Given the description of an element on the screen output the (x, y) to click on. 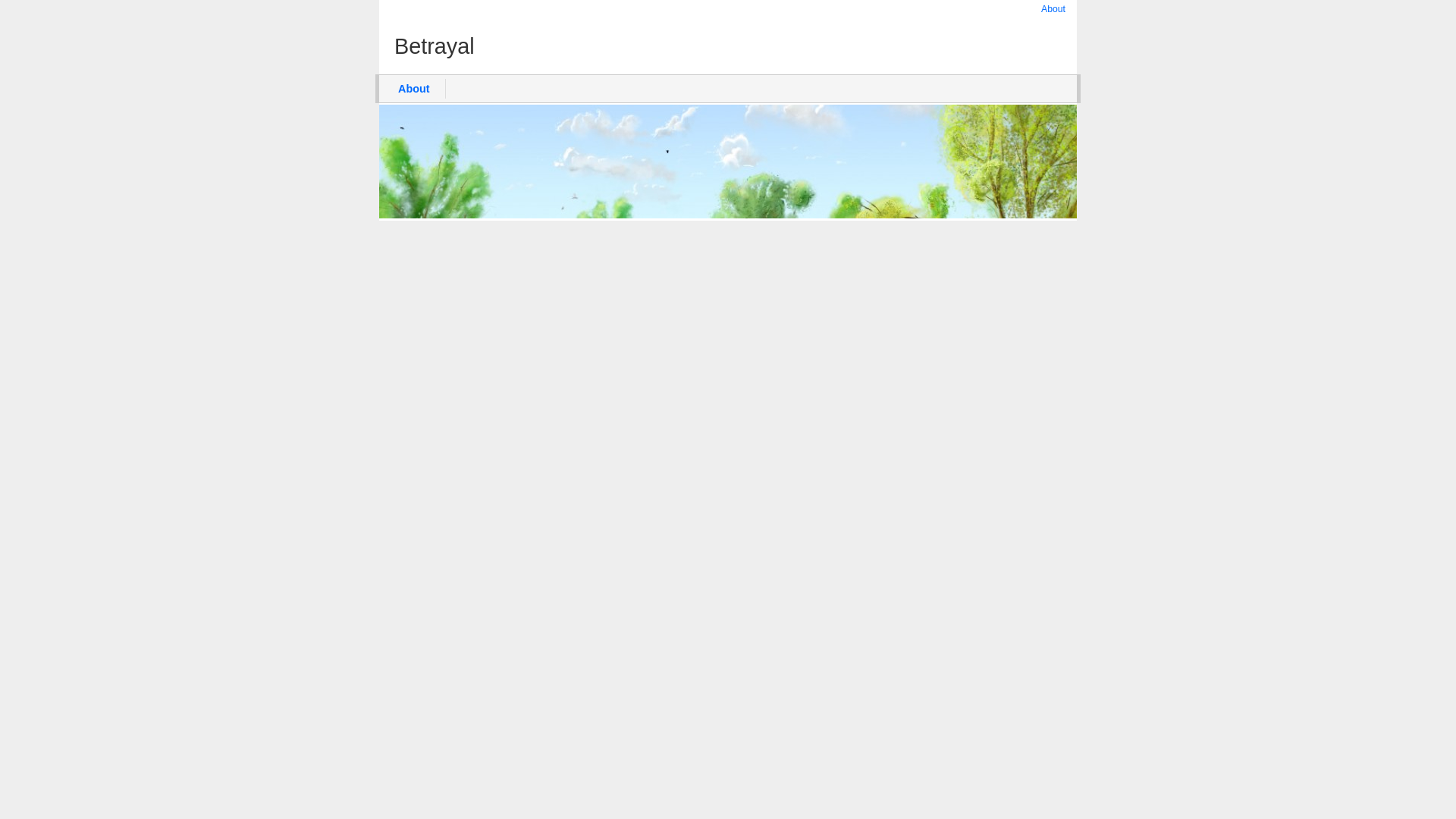
Betrayal (727, 46)
About (1052, 9)
About (413, 88)
